Given the description of an element on the screen output the (x, y) to click on. 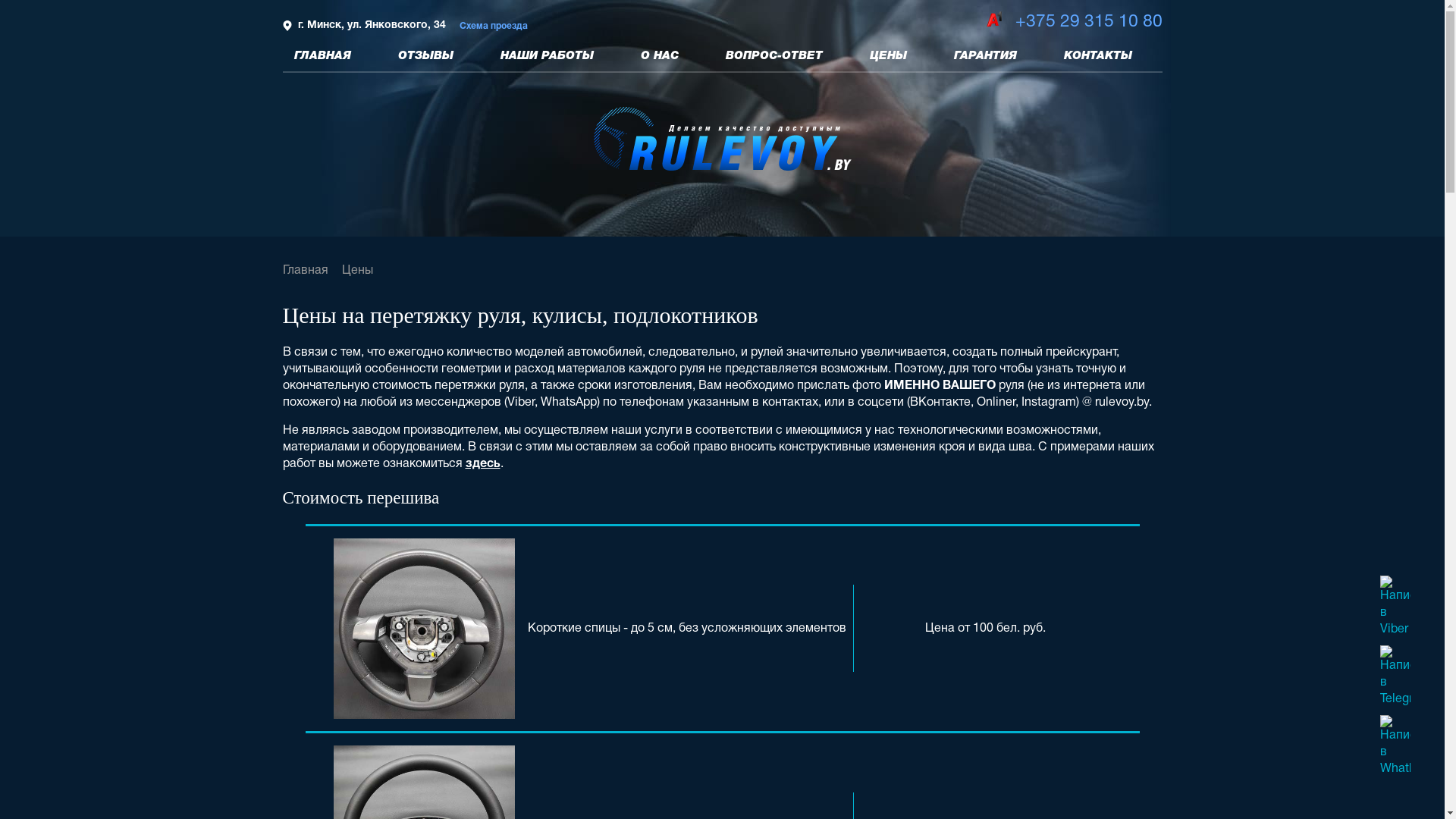
+375 29 315 10 80 Element type: text (1087, 22)
